Given the description of an element on the screen output the (x, y) to click on. 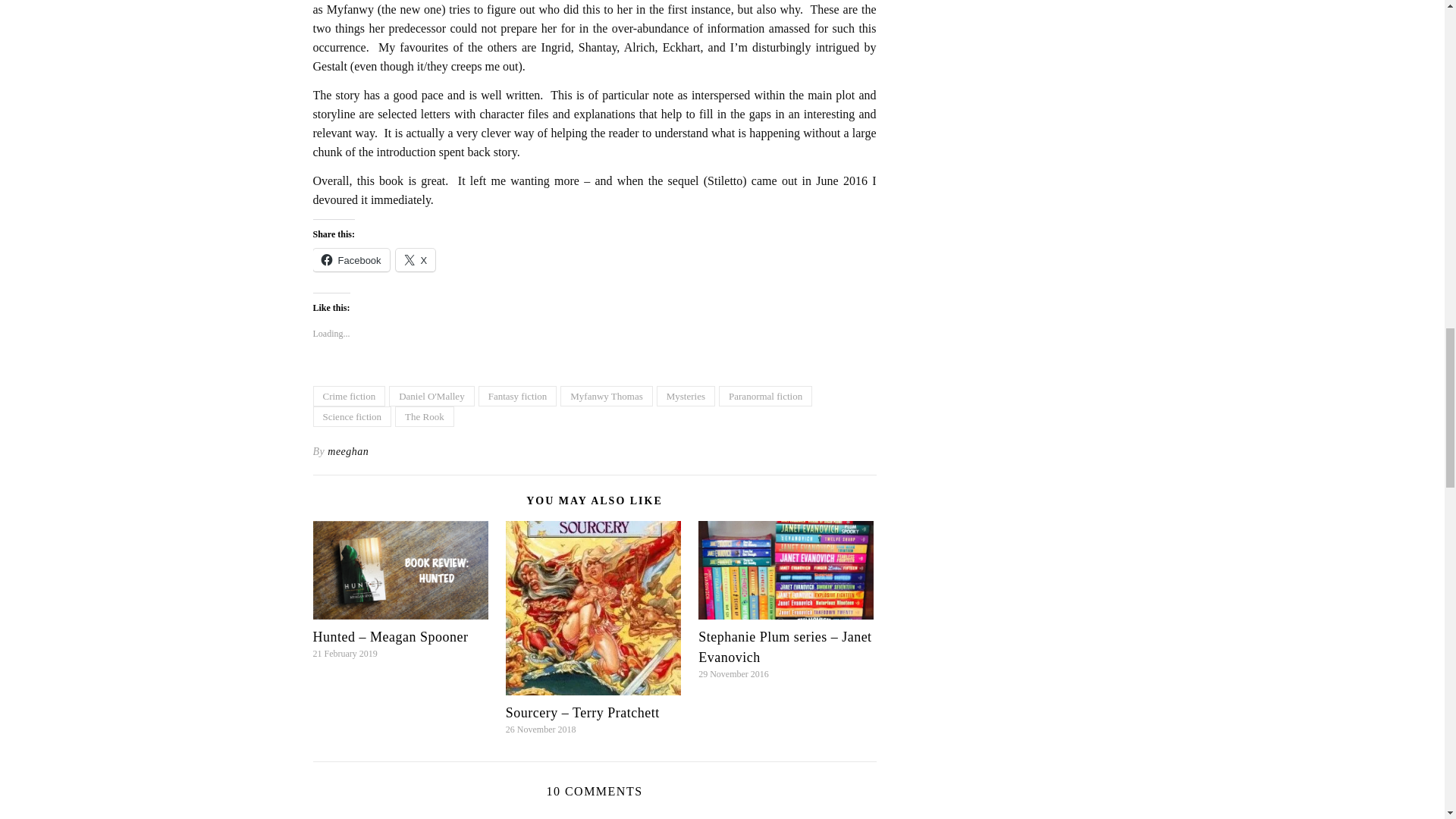
Click to share on Facebook (350, 259)
Posts by meeghan (347, 451)
Click to share on X (415, 259)
